Given the description of an element on the screen output the (x, y) to click on. 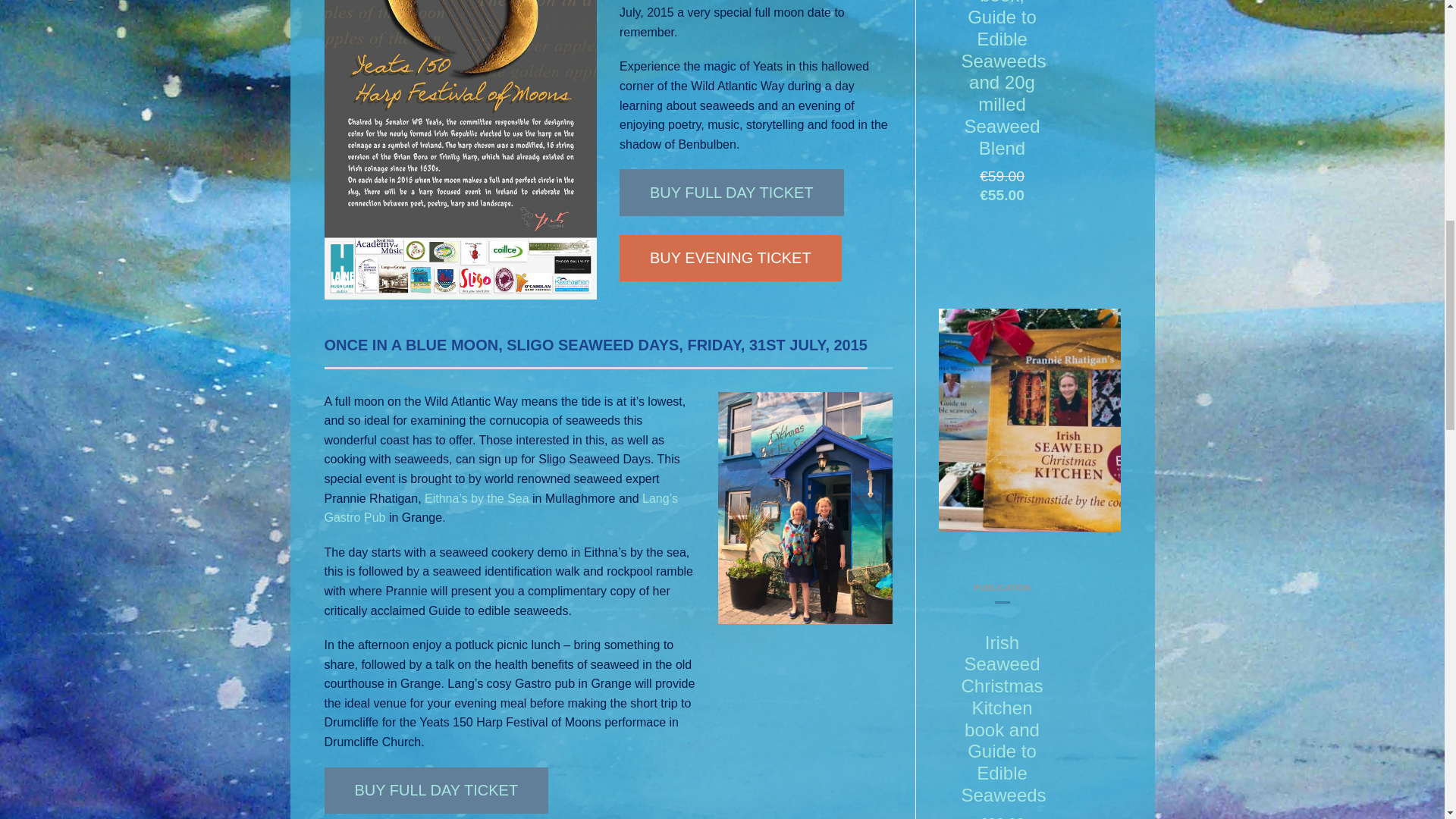
BUY EVENING TICKET (730, 258)
BUY FULL DAY TICKET (436, 790)
BUY FULL DAY TICKET (732, 191)
